Given the description of an element on the screen output the (x, y) to click on. 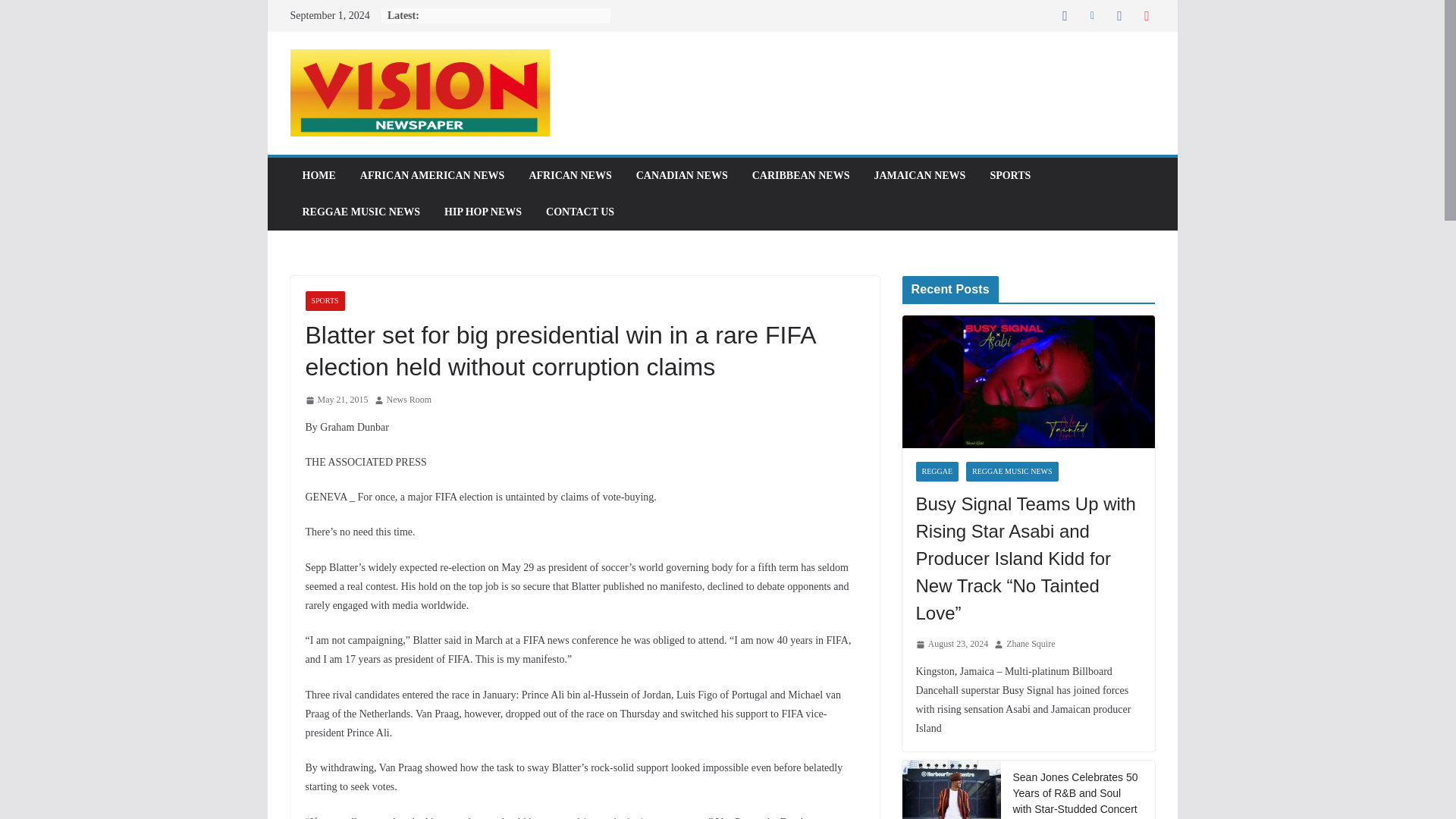
REGGAE (937, 471)
SPORTS (323, 301)
CONTACT US (580, 211)
JAMAICAN NEWS (919, 175)
SPORTS (1010, 175)
HIP HOP NEWS (482, 211)
News Room (409, 400)
10:20 am (336, 400)
AFRICAN AMERICAN NEWS (432, 175)
May 21, 2015 (336, 400)
